Given the description of an element on the screen output the (x, y) to click on. 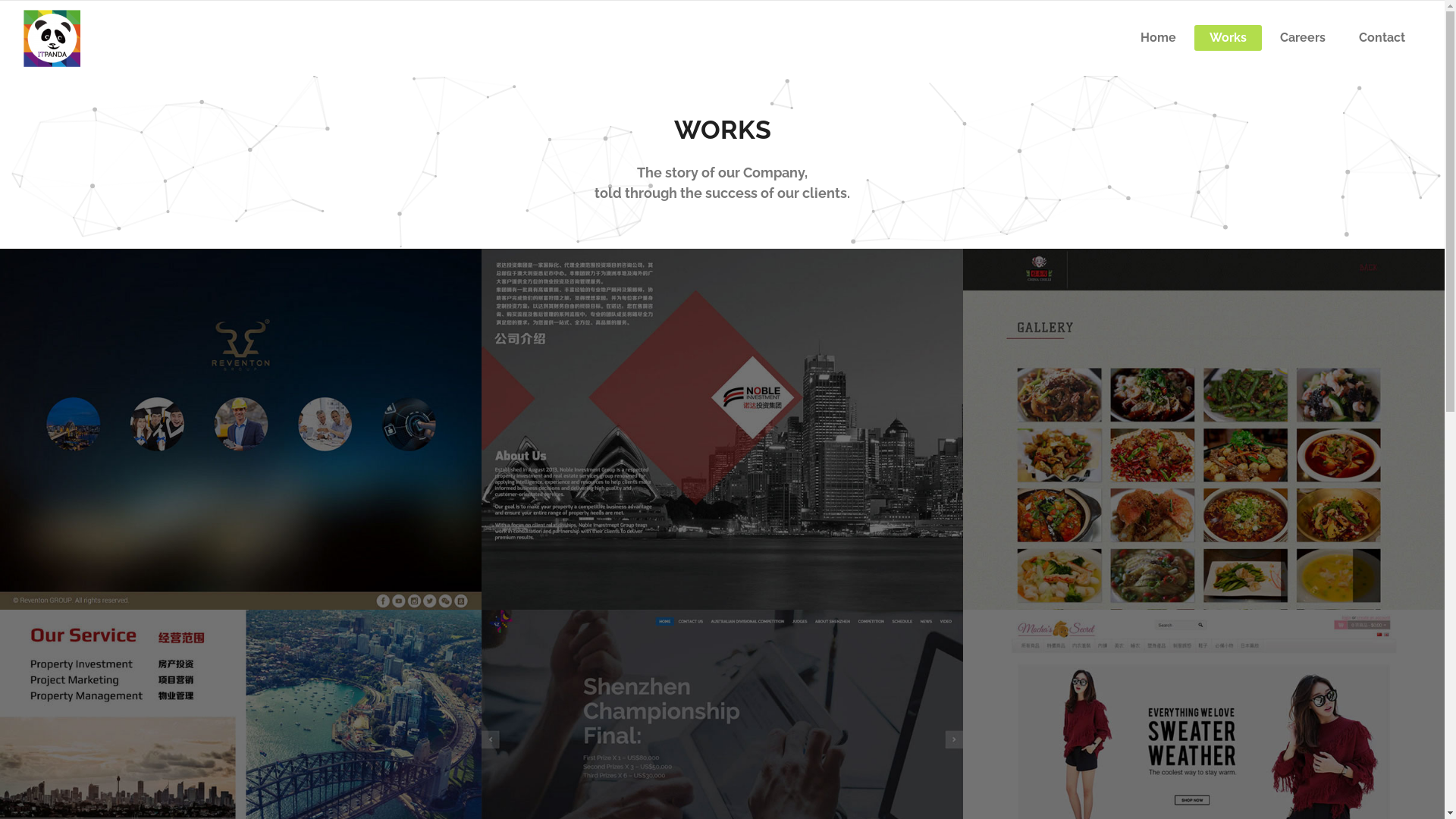
Home Element type: text (1158, 37)
Contact Element type: text (1381, 37)
Works Element type: text (1227, 37)
Careers Element type: text (1302, 37)
